Given the description of an element on the screen output the (x, y) to click on. 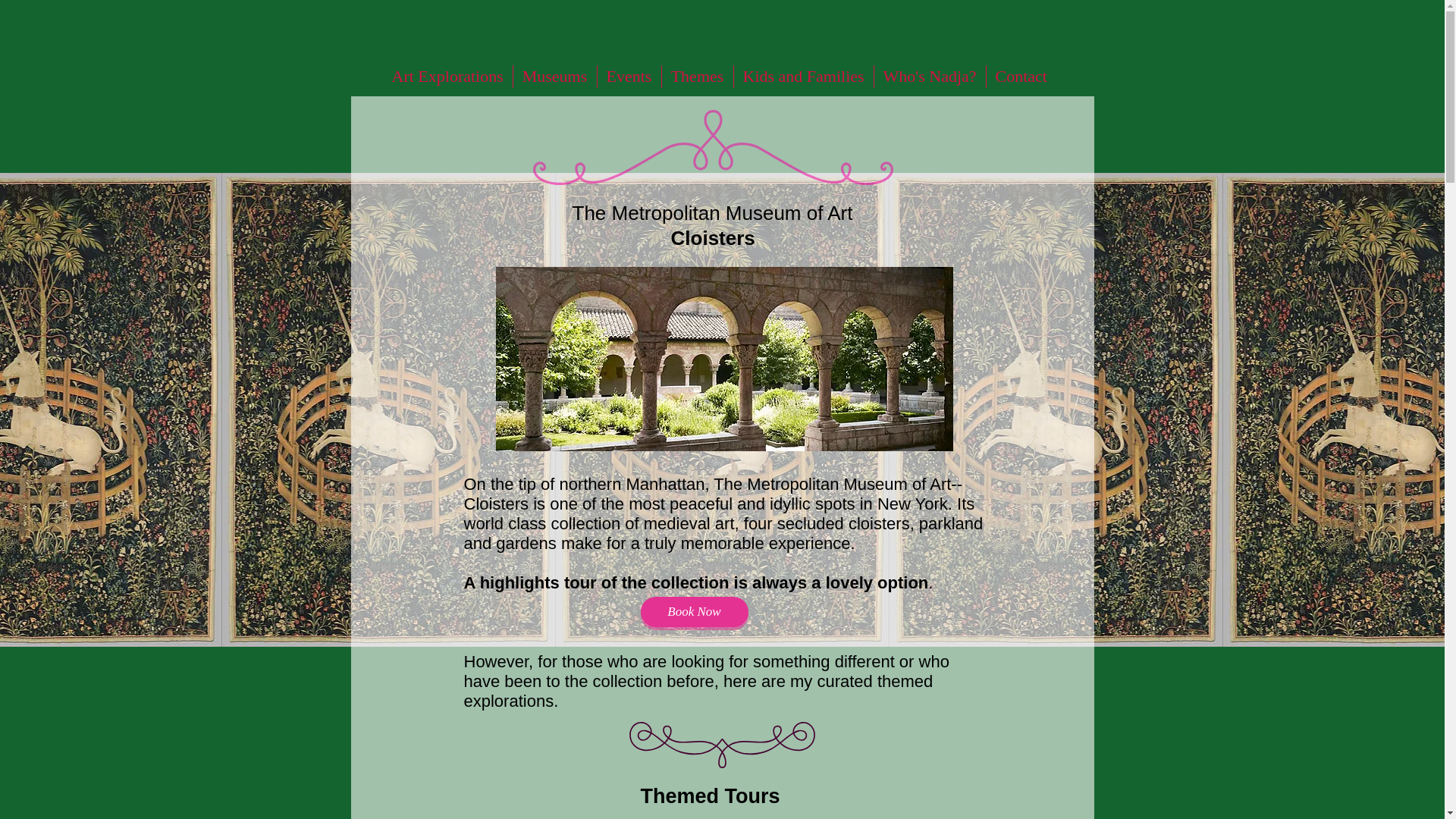
Events (628, 76)
Who's Nadja? (929, 76)
Themes (696, 76)
Kids and Families (803, 76)
Museums (553, 76)
Art Explorations (446, 76)
Book Now (694, 612)
